Given the description of an element on the screen output the (x, y) to click on. 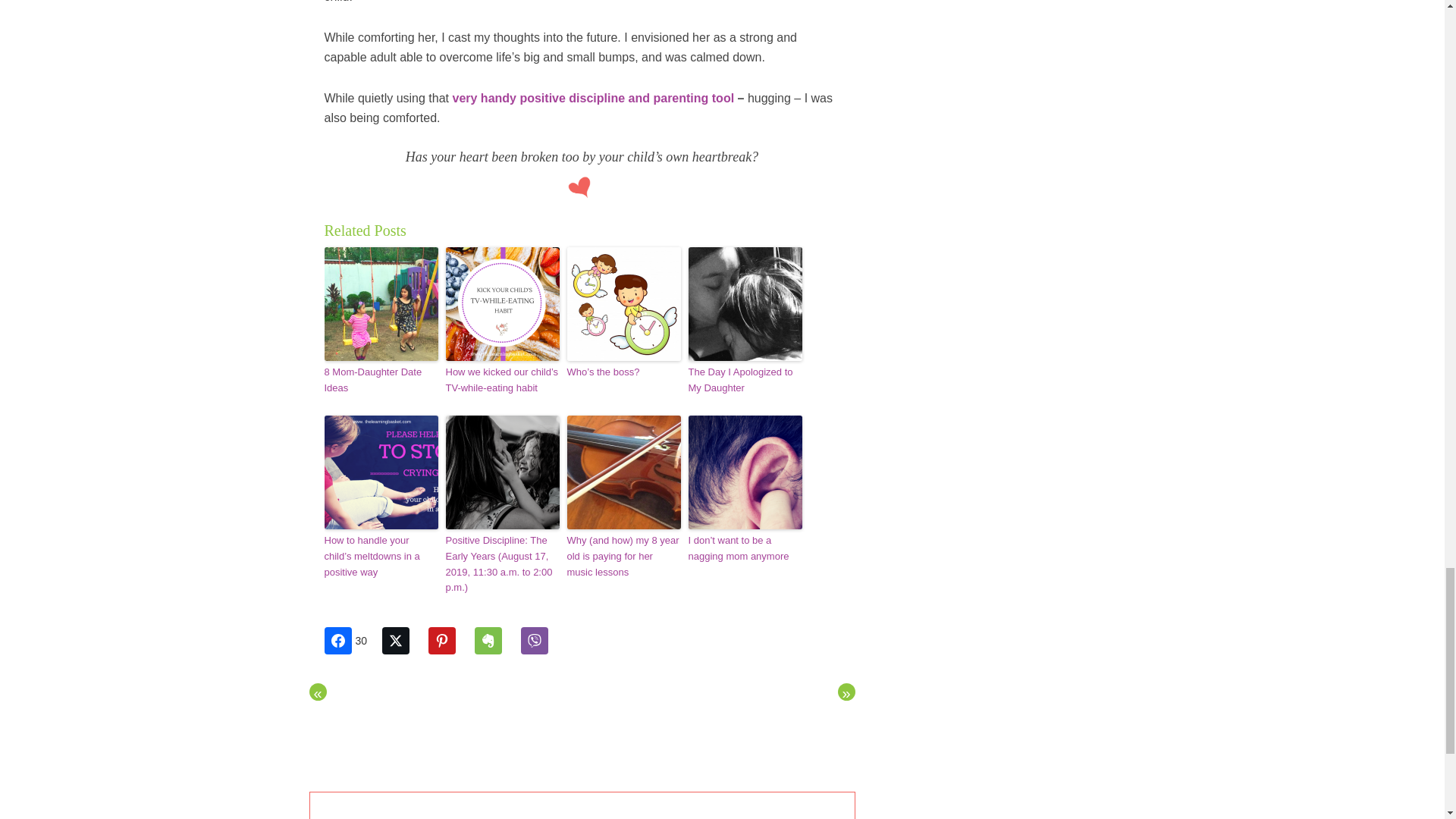
Share on Twitter (403, 640)
Share on Facebook (351, 640)
Share on Evernote (495, 640)
Previous Post: 5 Ways to Explore Ancient Egypt (317, 692)
Share on Pinterest (449, 640)
Share on Viber (542, 640)
